Given the description of an element on the screen output the (x, y) to click on. 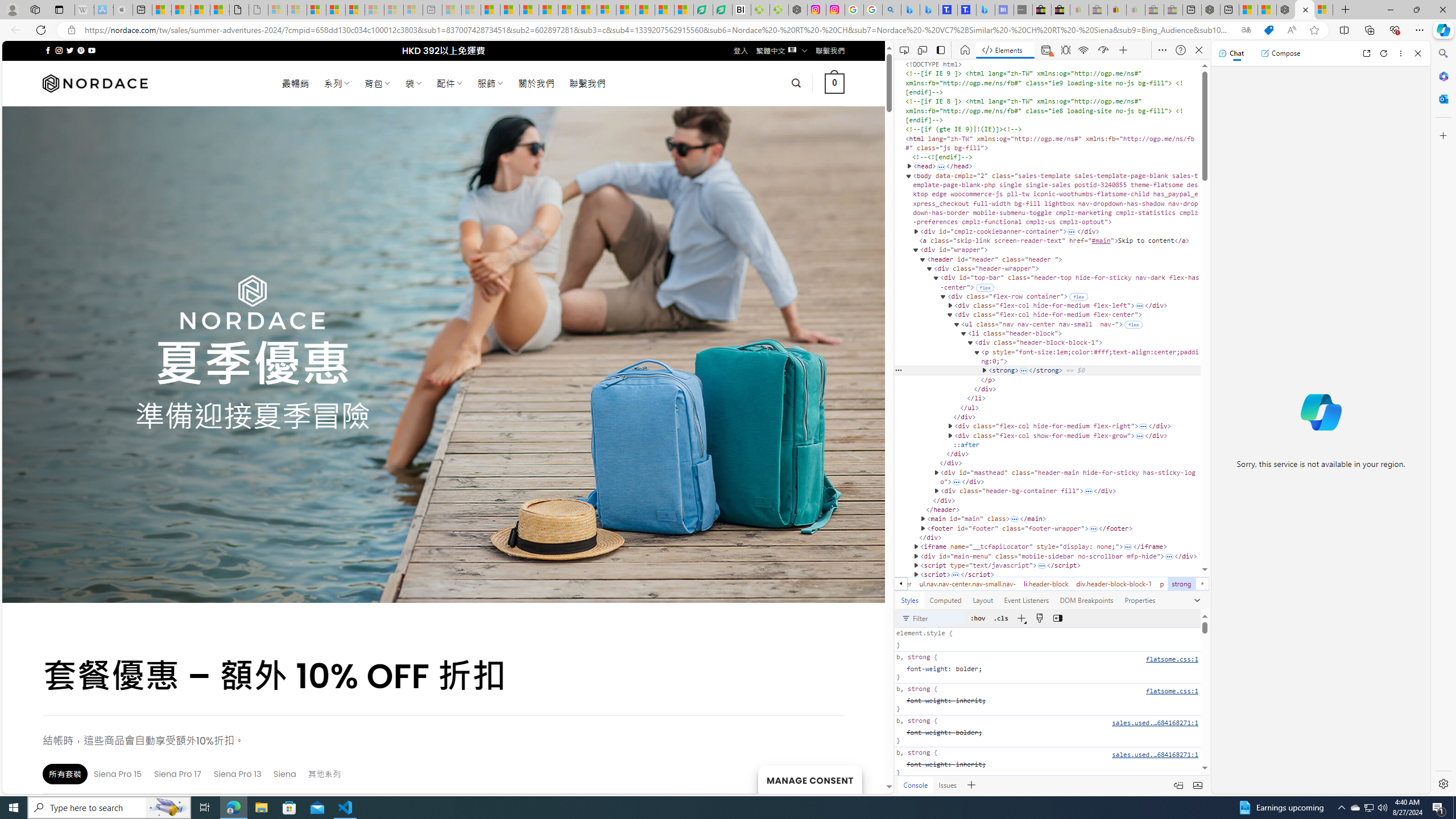
Payments Terms of Use | eBay.com - Sleeping (1135, 9)
flatsome.css:1 (1171, 691)
Food and Drink - MSN (509, 9)
Help (1180, 49)
div.header-block-block-1 (1113, 583)
New tab (1229, 9)
Press Room - eBay Inc. - Sleeping (1154, 9)
Console warnings present. (1044, 49)
Siena Pro 13 (237, 773)
This site has coupons! Shopping in Microsoft Edge (1268, 29)
Nordace (95, 83)
p (1161, 583)
